Given the description of an element on the screen output the (x, y) to click on. 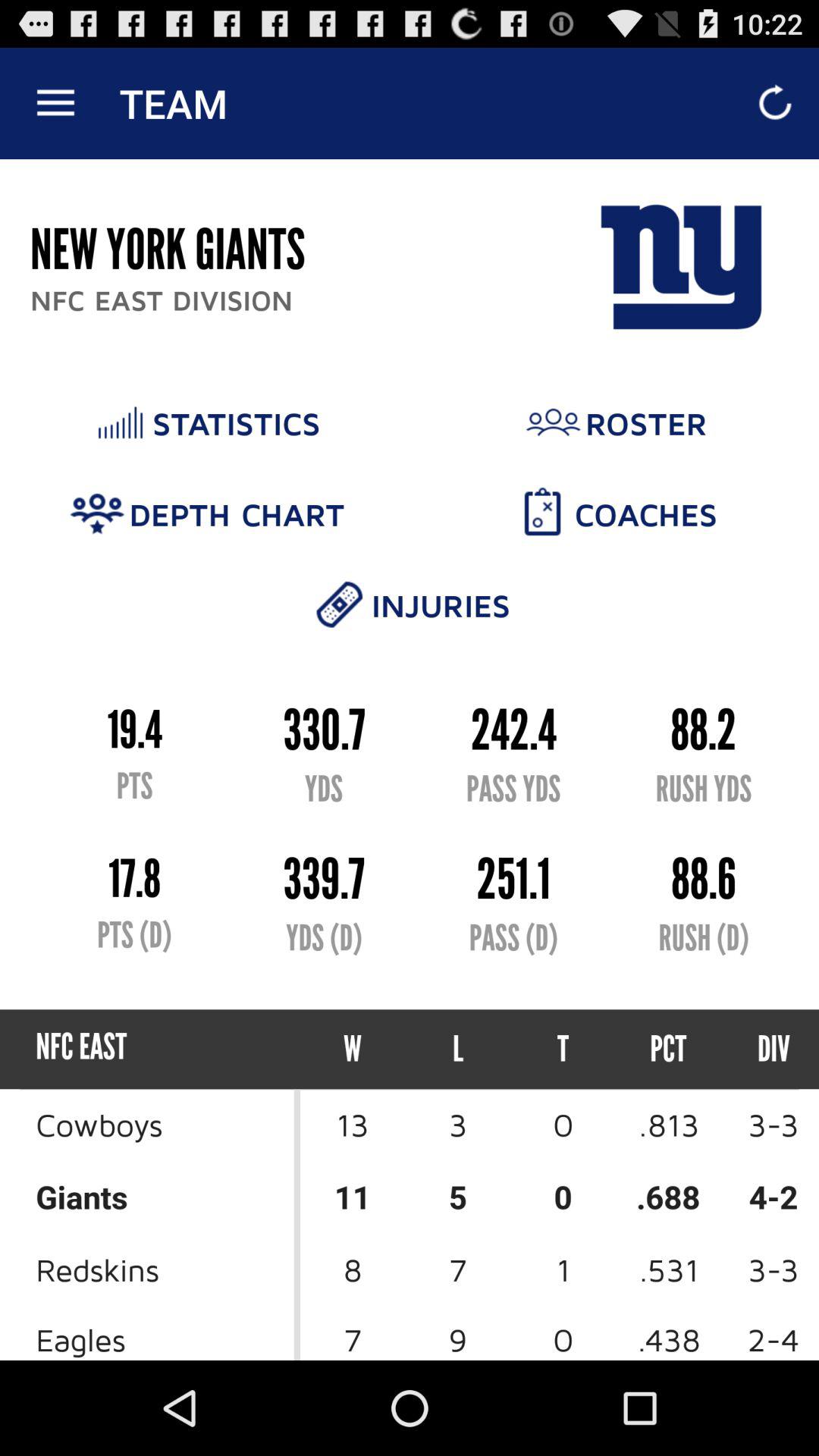
launch the item above the .813 (760, 1049)
